Given the description of an element on the screen output the (x, y) to click on. 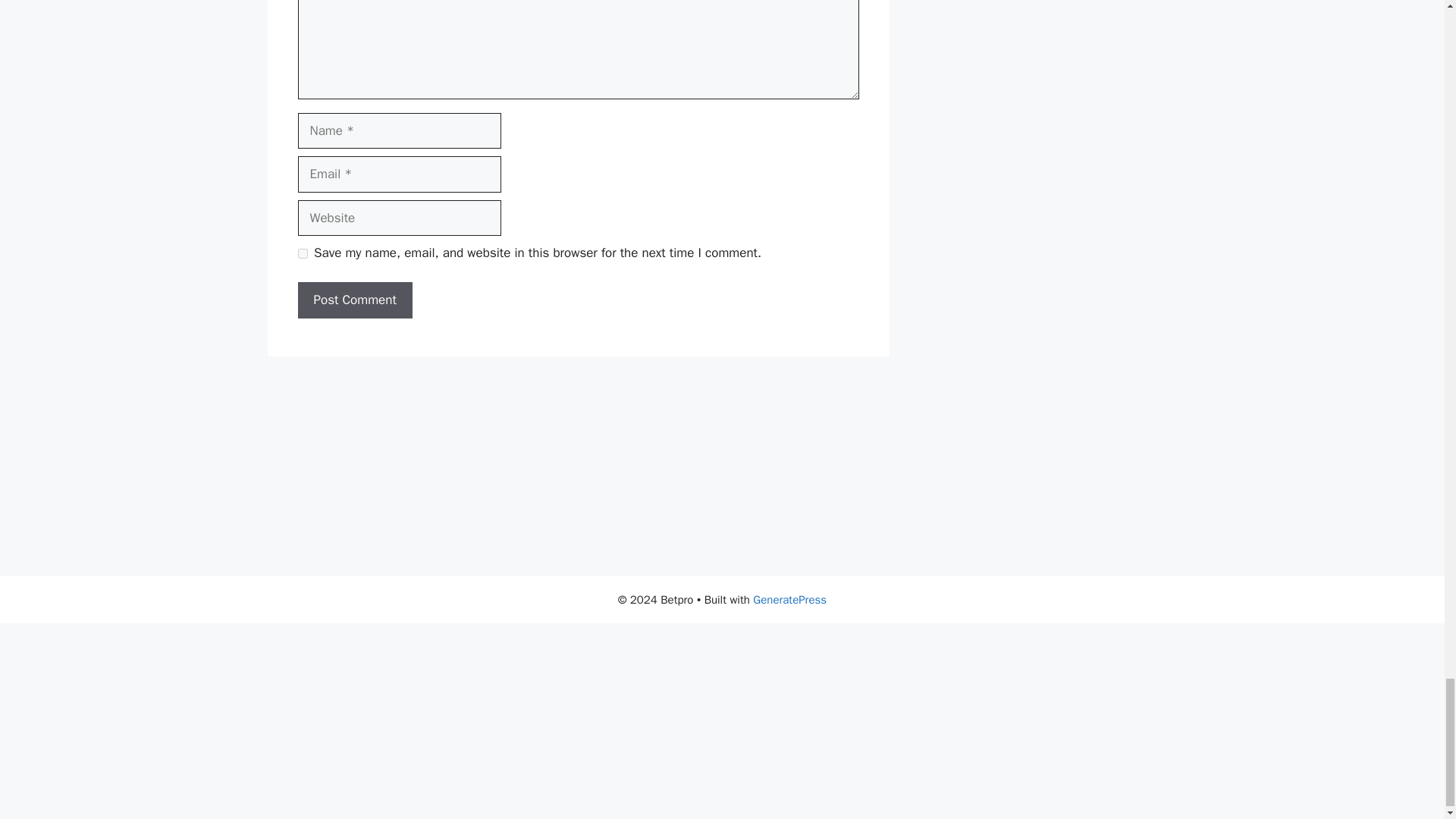
Post Comment (354, 299)
Post Comment (354, 299)
yes (302, 253)
GeneratePress (789, 599)
